Given the description of an element on the screen output the (x, y) to click on. 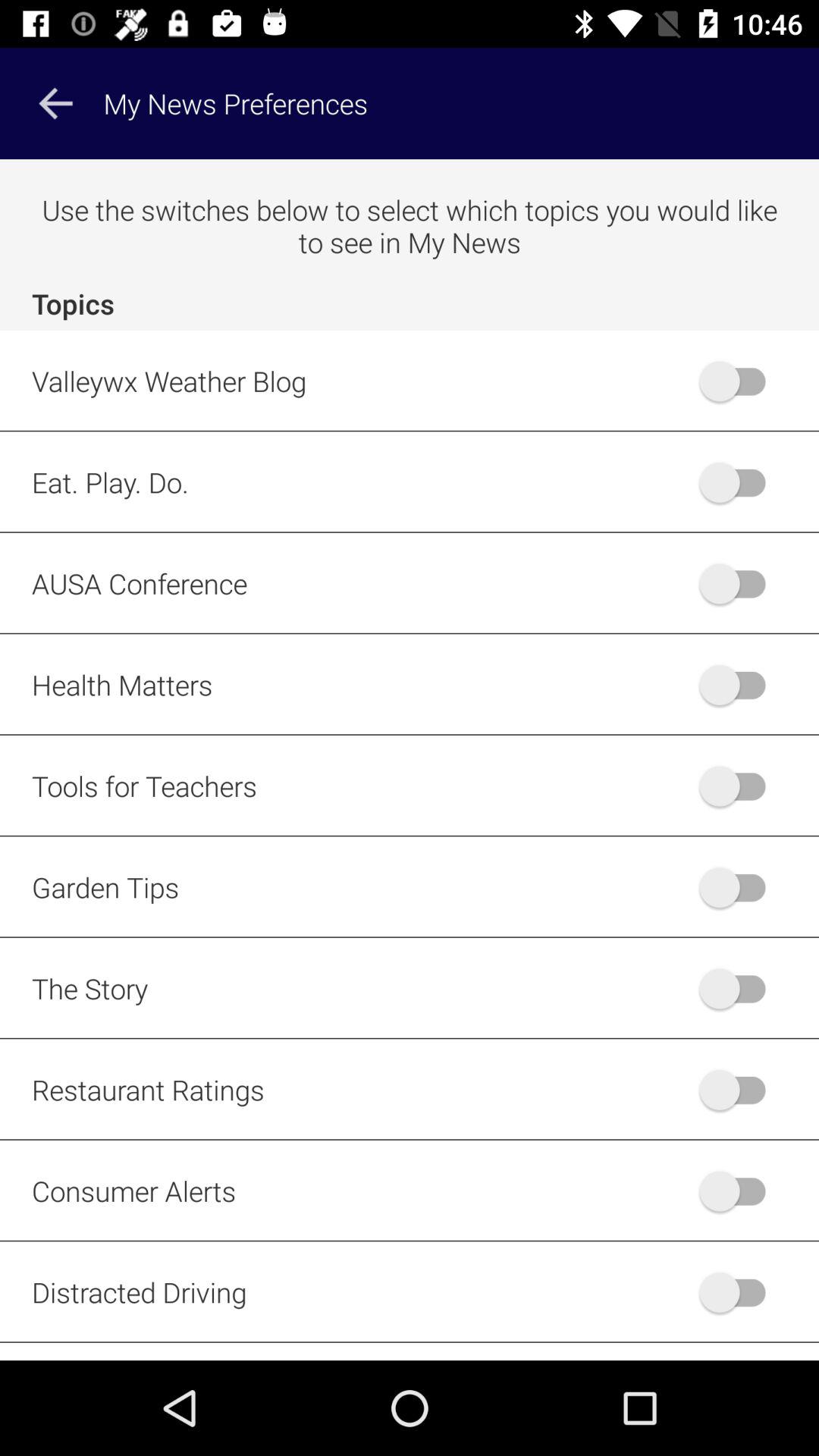
select the icon at the top left corner (55, 103)
